Given the description of an element on the screen output the (x, y) to click on. 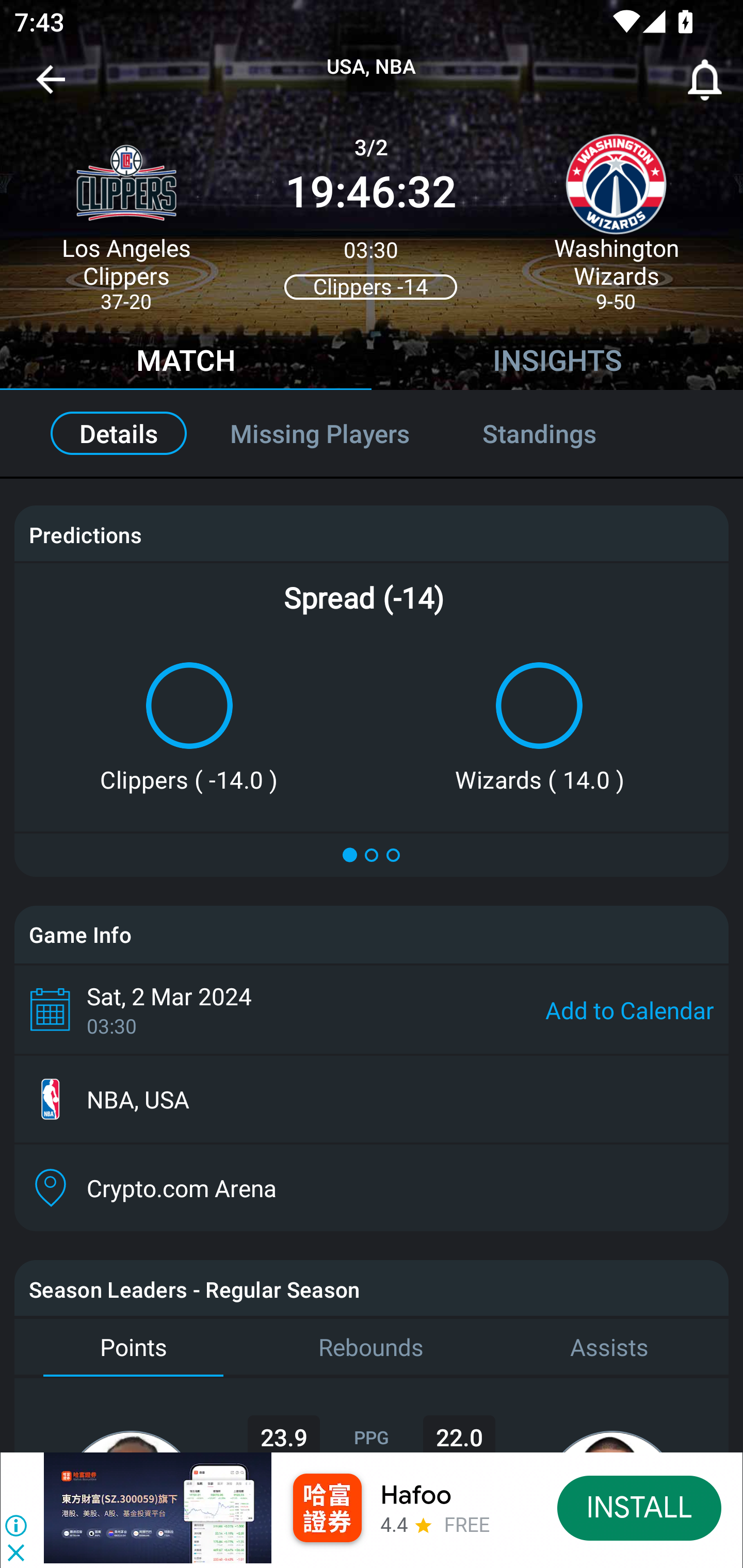
Navigate up (50, 86)
USA, NBA (371, 66)
Los Angeles Clippers 37-20 (126, 214)
Washington Wizards 9-50 (616, 214)
MATCH (185, 362)
INSIGHTS (557, 362)
Missing Players (319, 433)
Standings (561, 433)
Predictions (85, 534)
Game Info (371, 934)
Sat, 2 Mar 2024 03:30 Add to Calendar (371, 1009)
NBA, USA (371, 1099)
Crypto.com Arena (371, 1187)
Rebounds (371, 1347)
Assists (609, 1347)
23.9 PPG 22.0 (371, 1414)
INSTALL (639, 1507)
Hafoo (416, 1494)
